Given the description of an element on the screen output the (x, y) to click on. 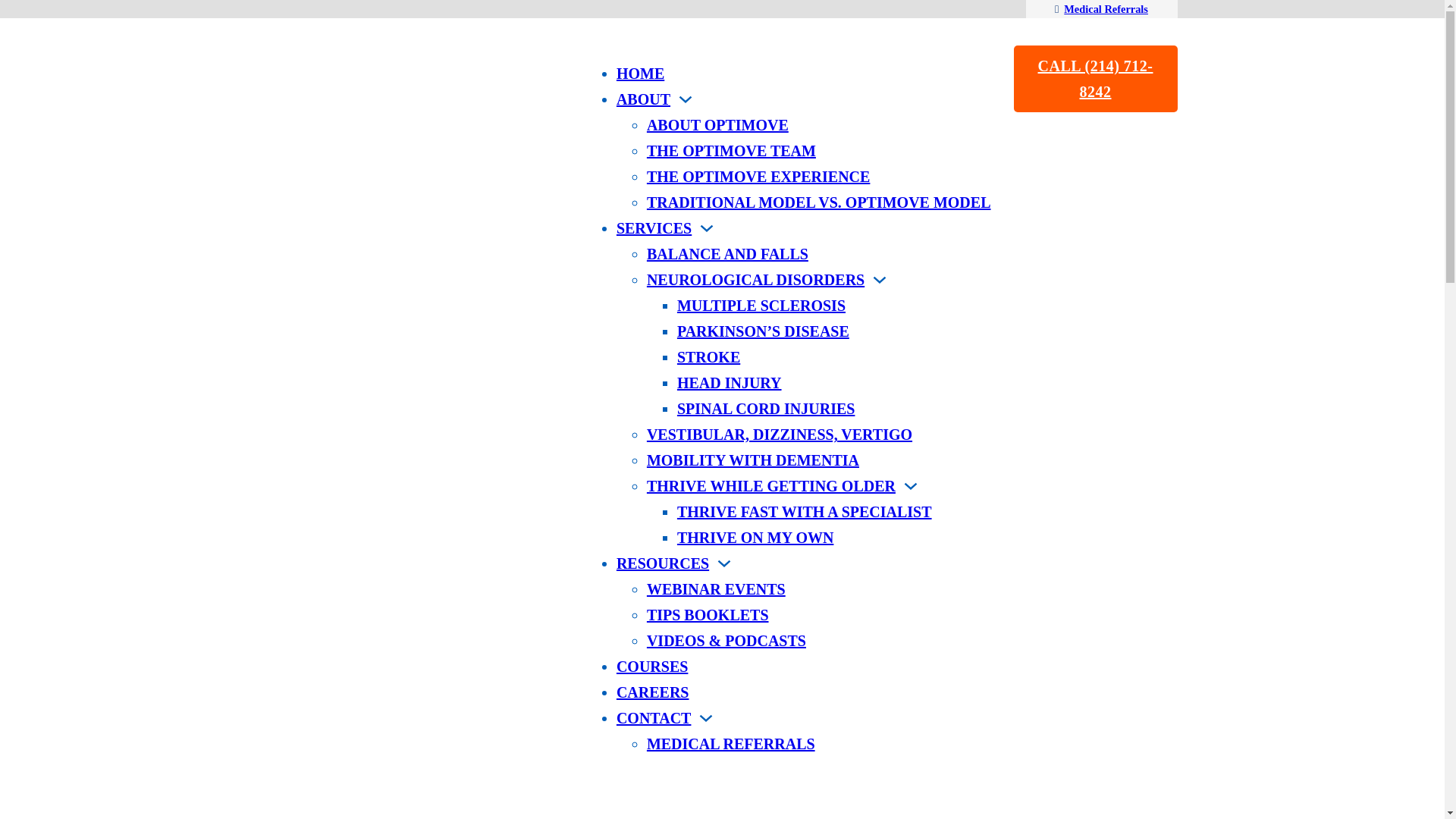
THRIVE ON MY OWN (754, 537)
WEBINAR EVENTS (716, 588)
SPINAL CORD INJURIES (766, 408)
TRADITIONAL MODEL VS. OPTIMOVE MODEL (818, 202)
THRIVE FAST WITH A SPECIALIST (804, 511)
COURSES (651, 666)
STROKE (708, 356)
MOBILITY WITH DEMENTIA (752, 460)
VESTIBULAR, DIZZINESS, VERTIGO (779, 434)
THRIVE WHILE GETTING OLDER (770, 485)
